Given the description of an element on the screen output the (x, y) to click on. 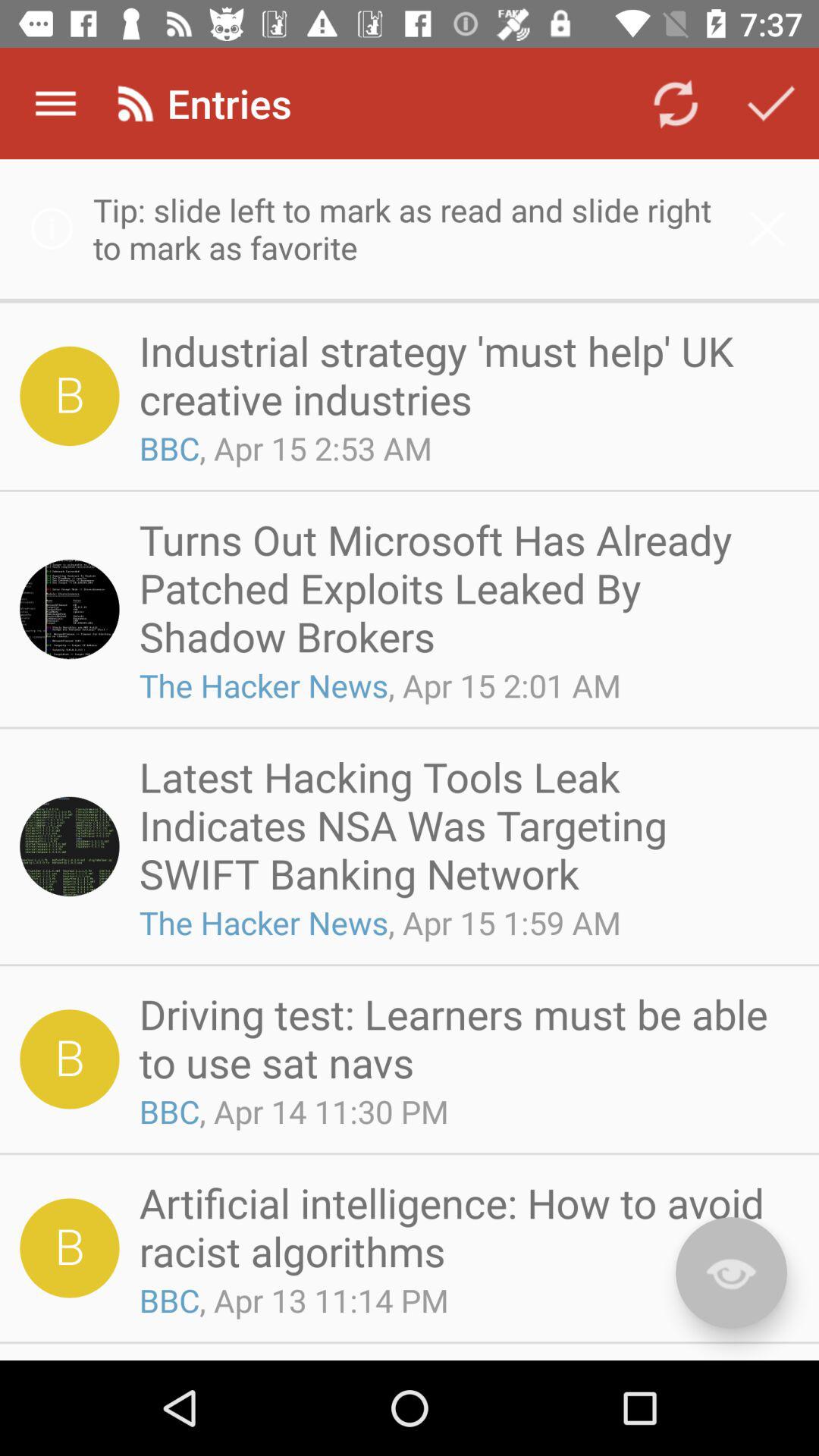
click app above the bbc apr 13 icon (463, 1226)
